Given the description of an element on the screen output the (x, y) to click on. 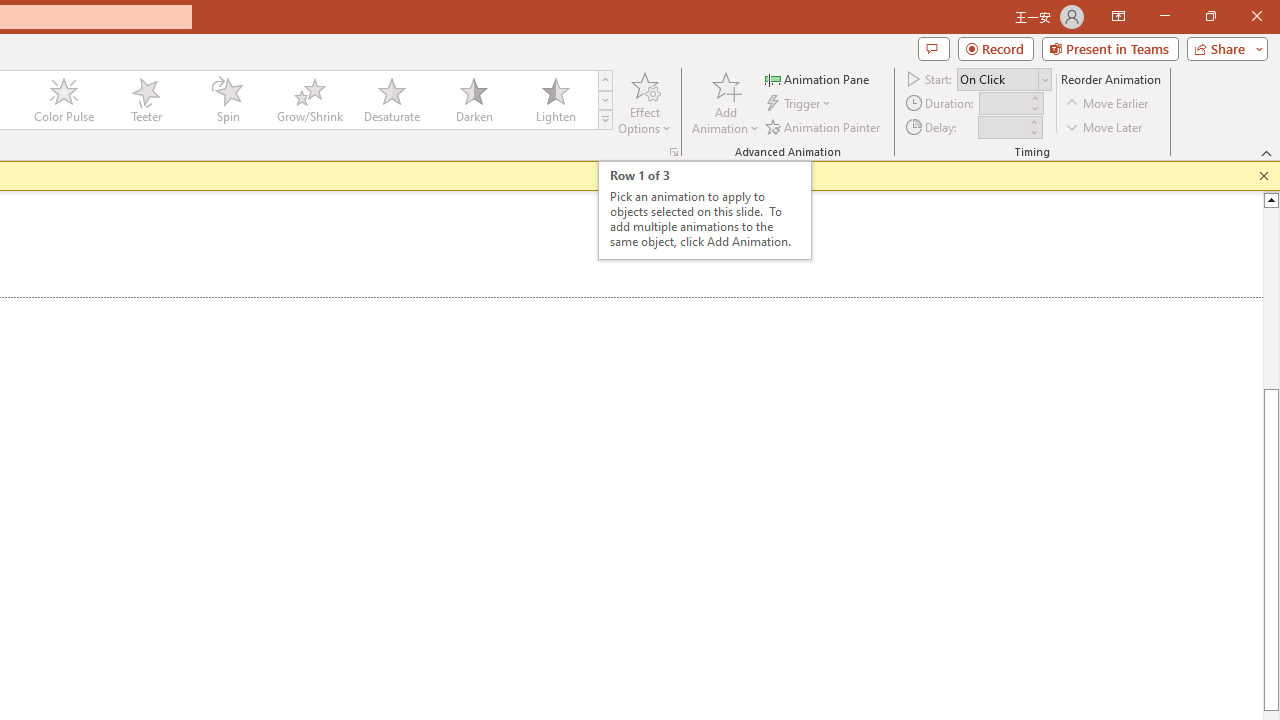
Row up (605, 79)
Teeter (145, 100)
Animation Pane (818, 78)
More Options... (673, 151)
Open (1044, 79)
Animation Duration (1003, 103)
